Given the description of an element on the screen output the (x, y) to click on. 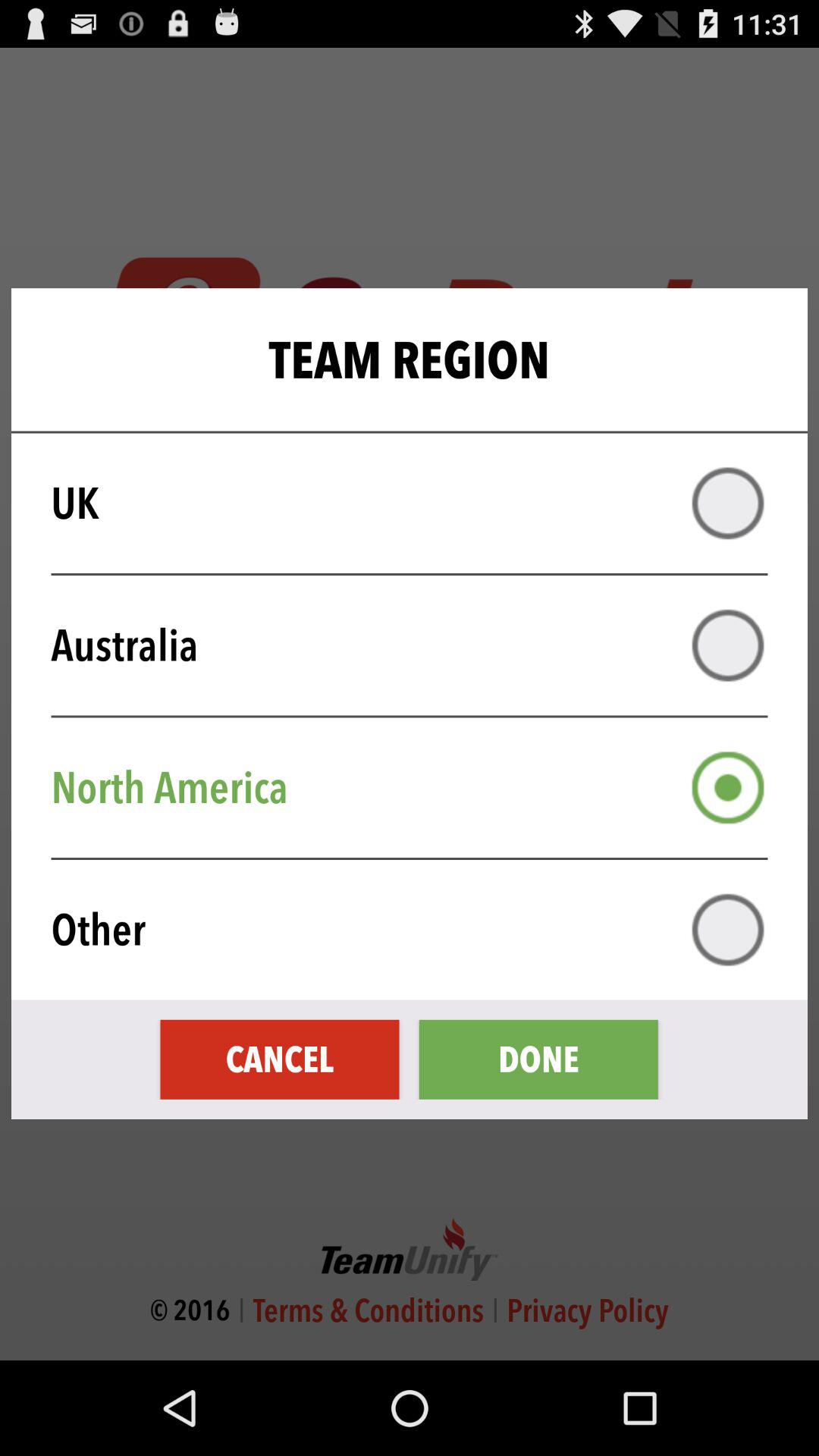
swipe to the done icon (538, 1059)
